Given the description of an element on the screen output the (x, y) to click on. 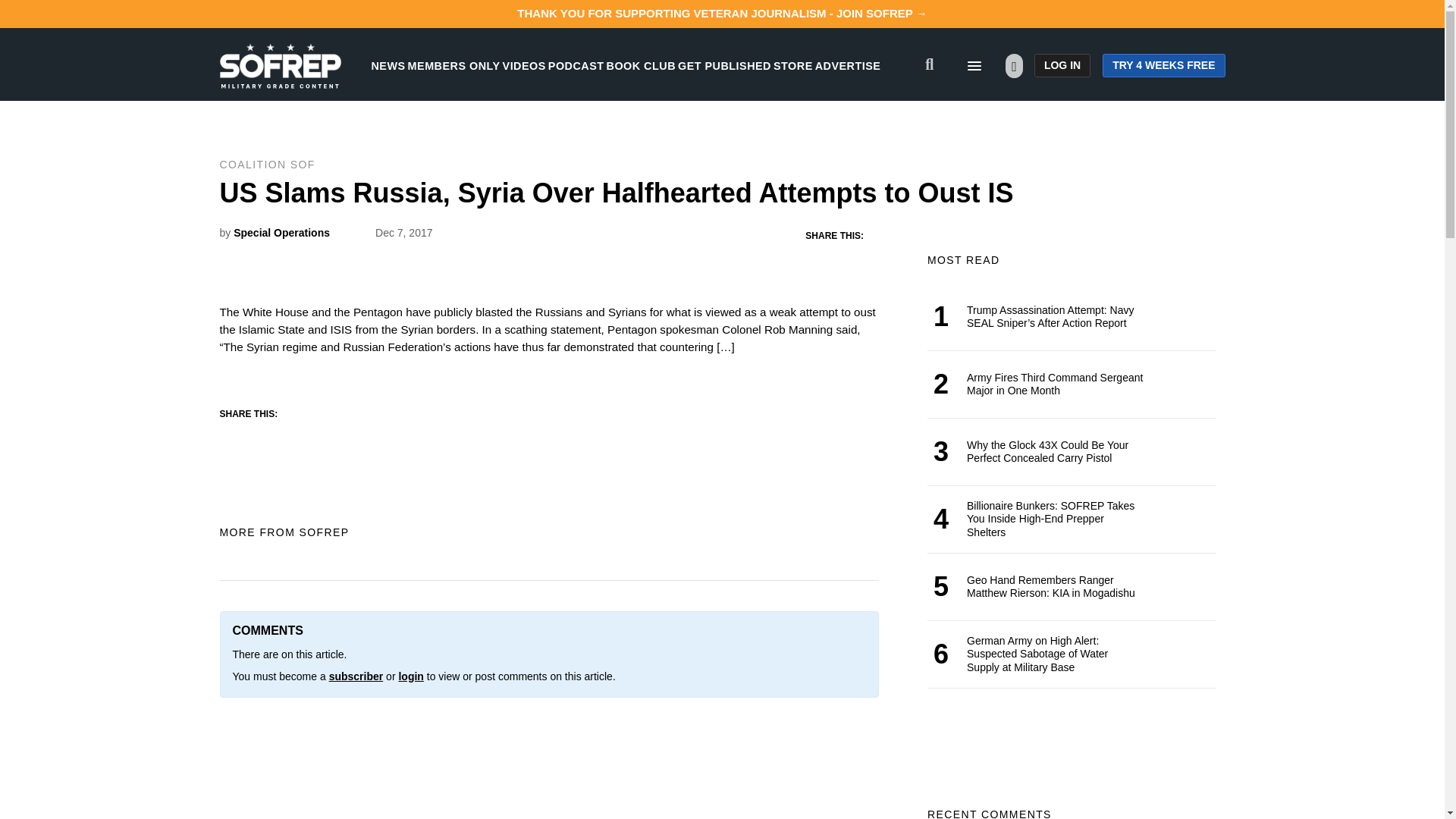
BOOK CLUB (641, 65)
GET PUBLISHED (724, 65)
VIDEOS (524, 65)
PODCAST (576, 65)
ADVERTISE (847, 65)
NEWS (388, 65)
MEMBERS ONLY (453, 65)
TRY 4 WEEKS FREE (1163, 65)
STORE (792, 65)
LOG IN (1061, 65)
